Given the description of an element on the screen output the (x, y) to click on. 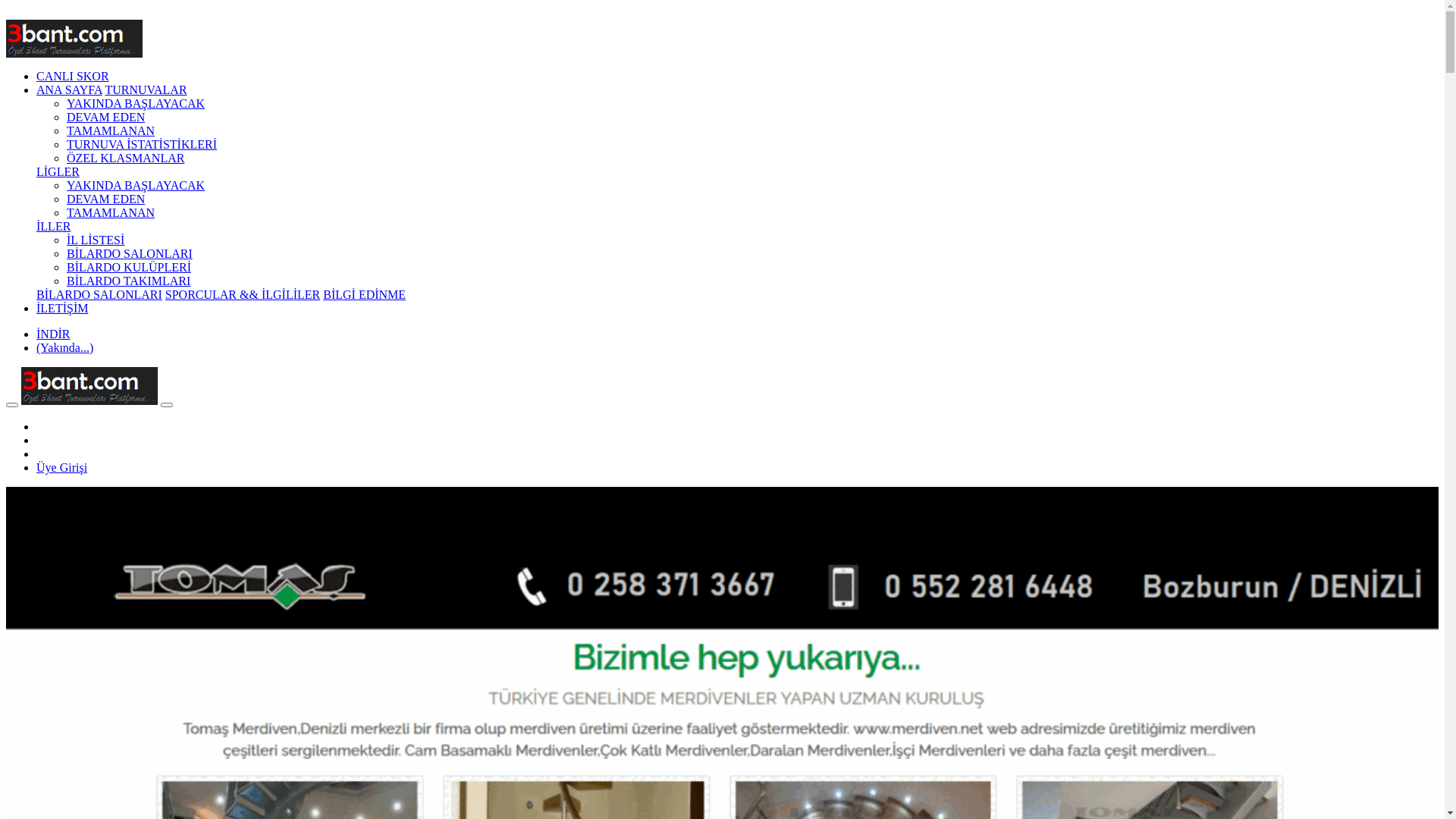
DEVAM EDEN Element type: text (105, 116)
ANA SAYFA Element type: text (69, 89)
DEVAM EDEN Element type: text (105, 198)
TAMAMLANAN Element type: text (110, 212)
TAMAMLANAN Element type: text (110, 130)
CANLI SKOR Element type: text (72, 75)
TURNUVALAR Element type: text (145, 89)
